Given the description of an element on the screen output the (x, y) to click on. 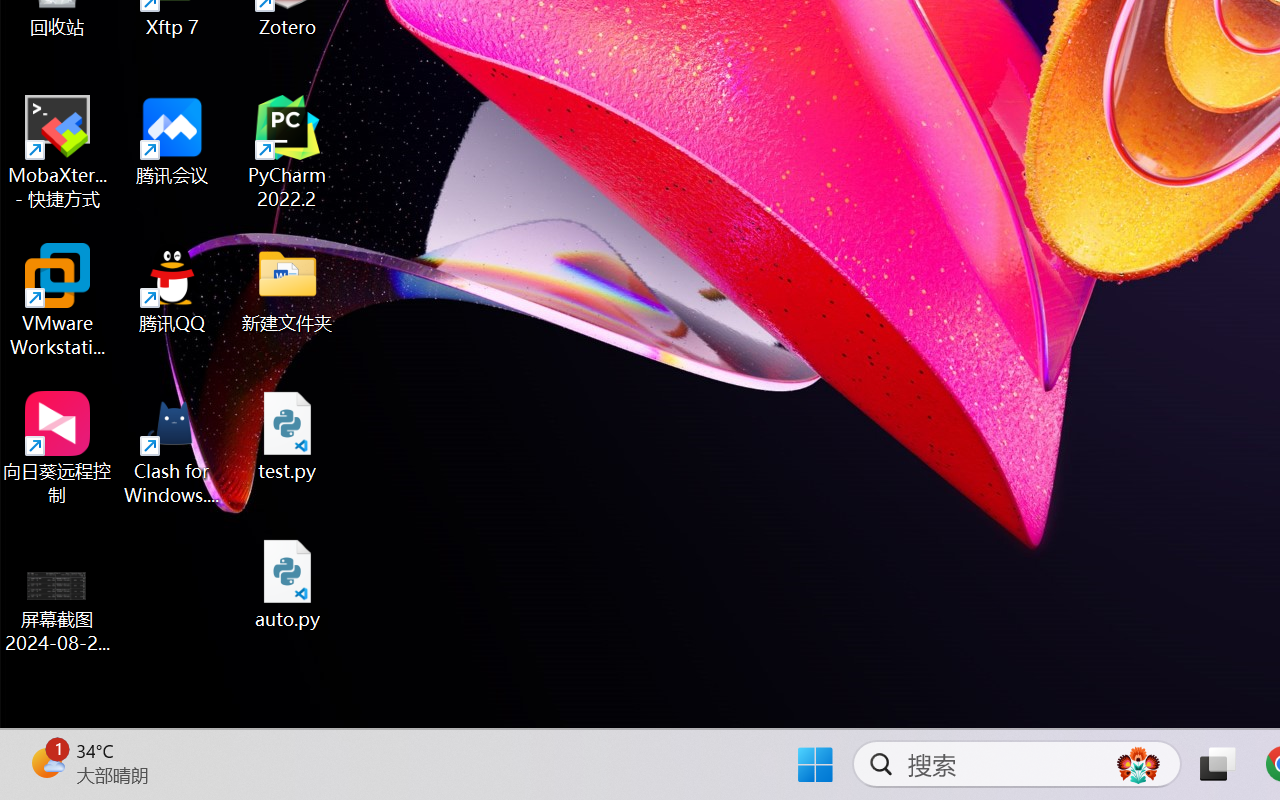
VMware Workstation Pro (57, 300)
auto.py (287, 584)
PyCharm 2022.2 (287, 152)
test.py (287, 436)
